Given the description of an element on the screen output the (x, y) to click on. 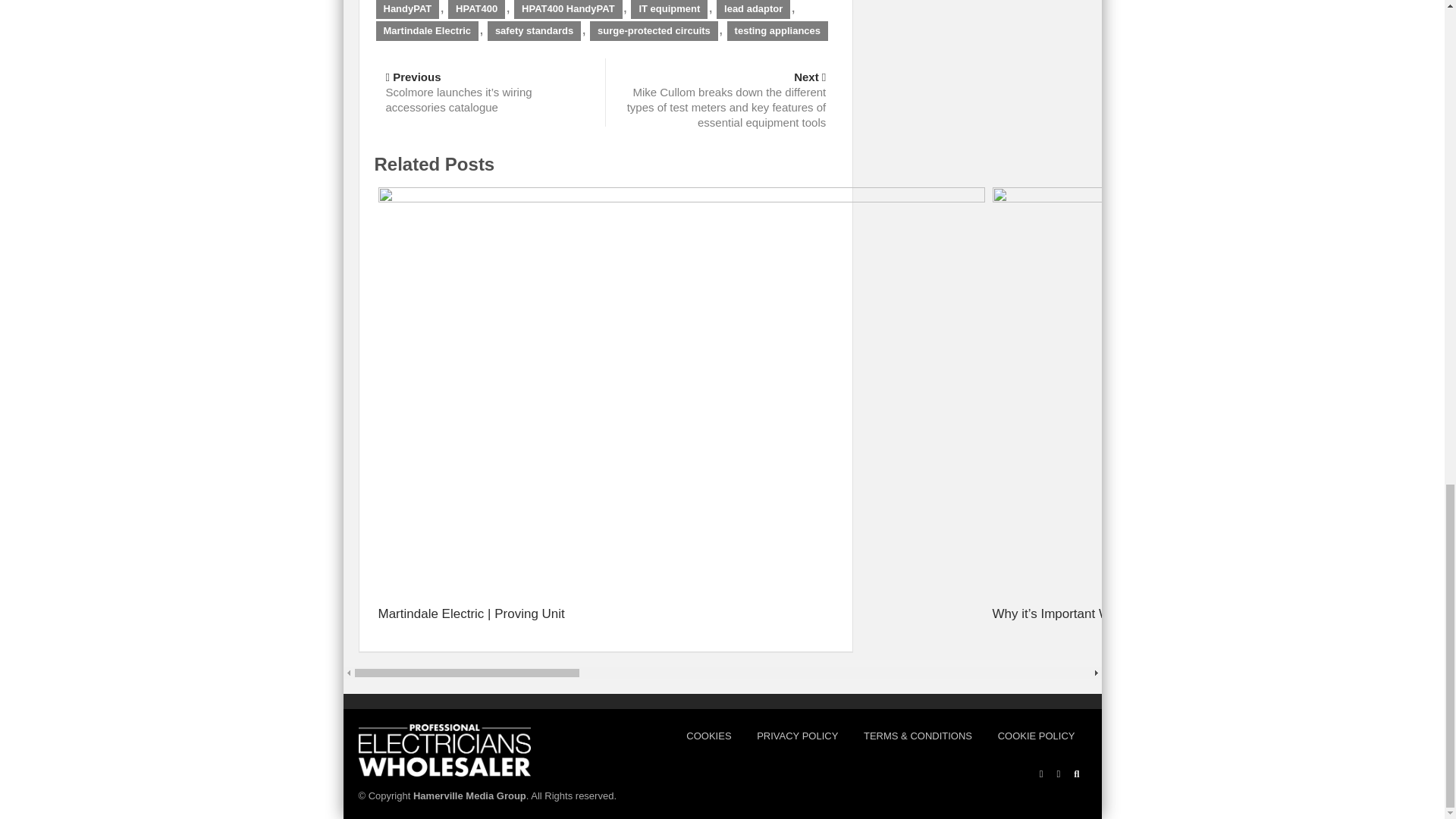
HPAT400 HandyPAT (568, 9)
HandyPAT (407, 9)
IT equipment (668, 9)
HPAT400 (476, 9)
